Given the description of an element on the screen output the (x, y) to click on. 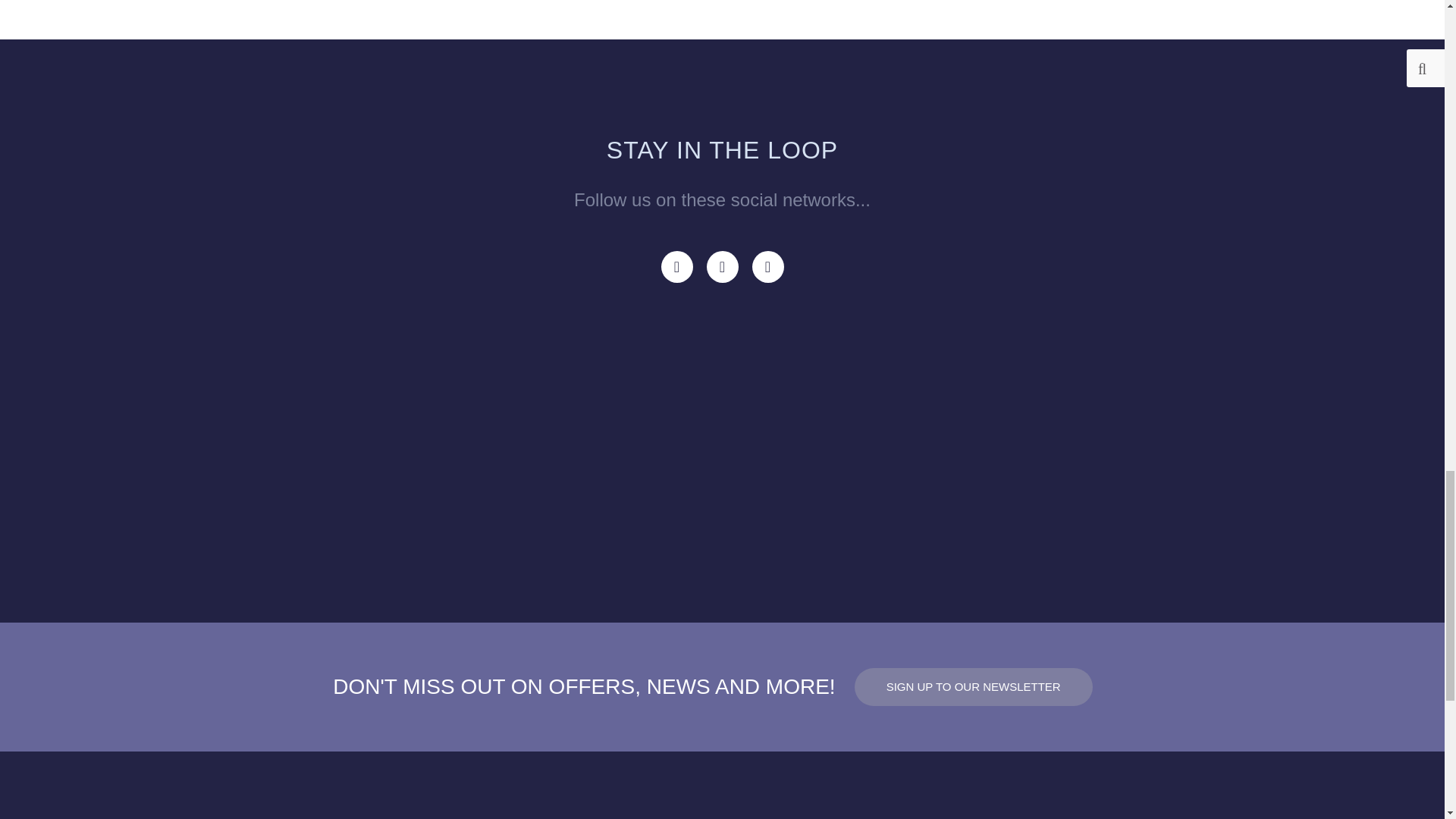
SIGN UP TO OUR NEWSLETTER (973, 686)
